Given the description of an element on the screen output the (x, y) to click on. 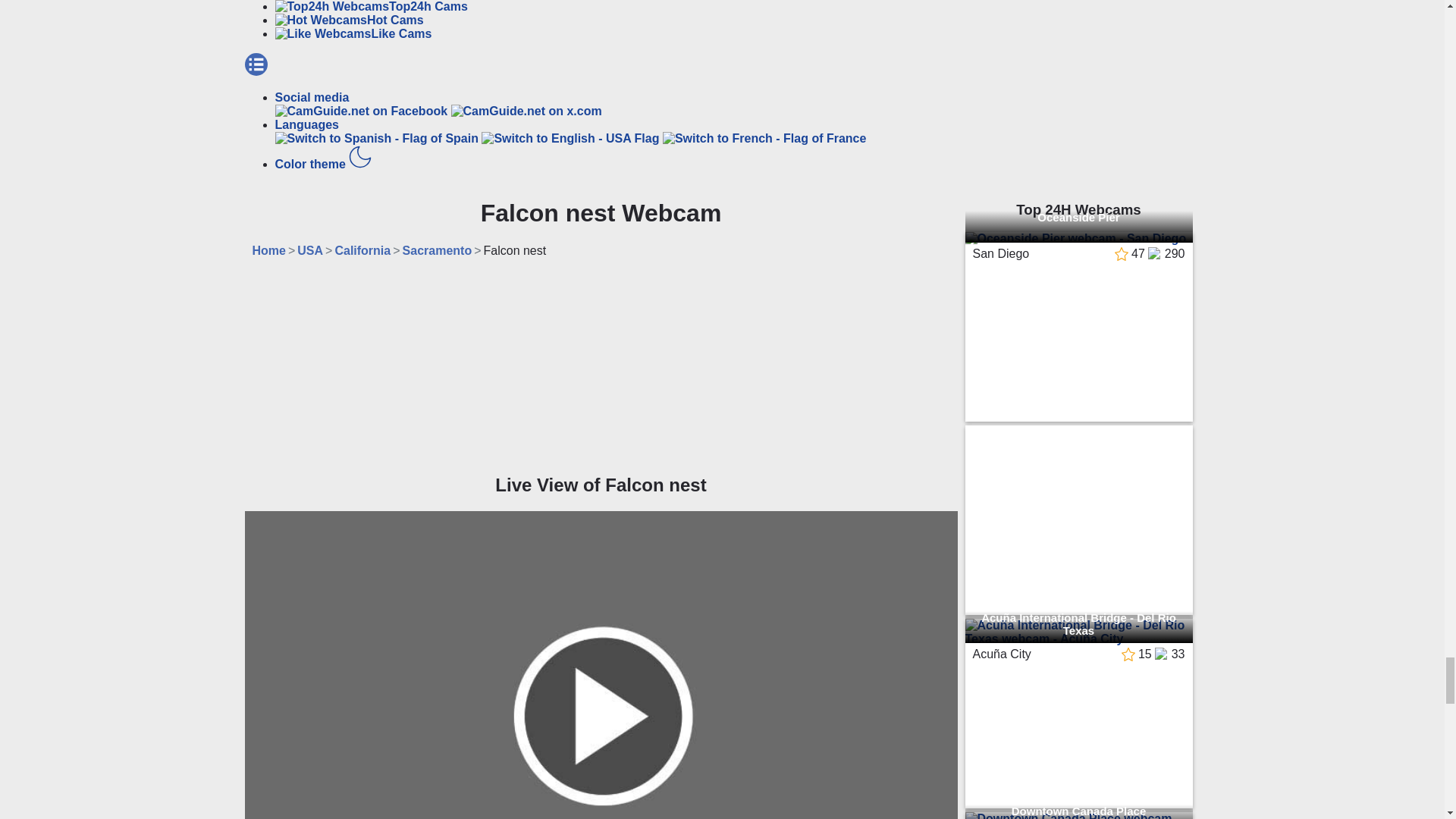
Camguide.net on Facebook (362, 110)
camguide.net on X (526, 110)
English version (571, 137)
